Given the description of an element on the screen output the (x, y) to click on. 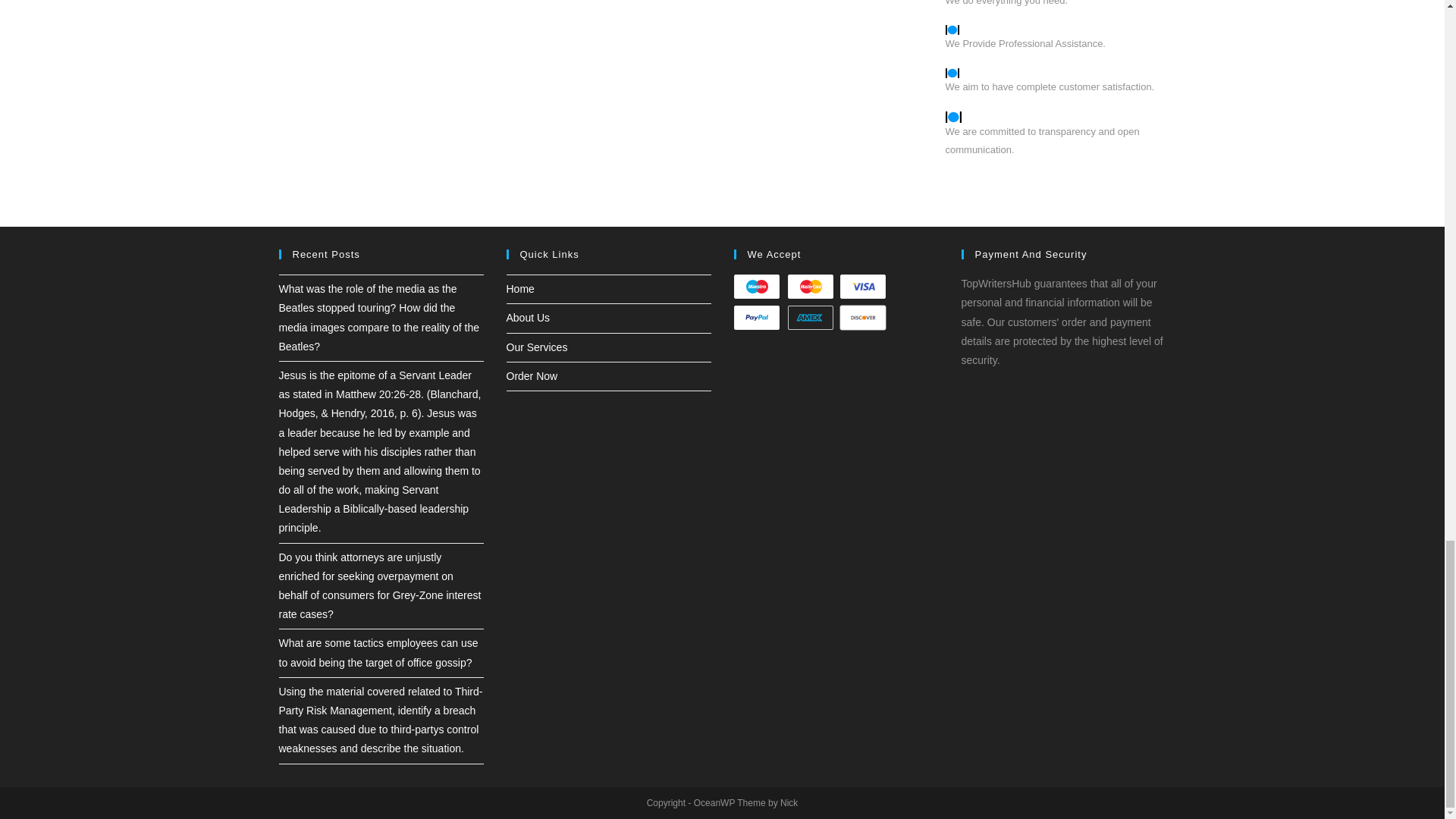
Our Services (536, 346)
Home (520, 288)
About Us (528, 317)
Order Now (531, 376)
